Given the description of an element on the screen output the (x, y) to click on. 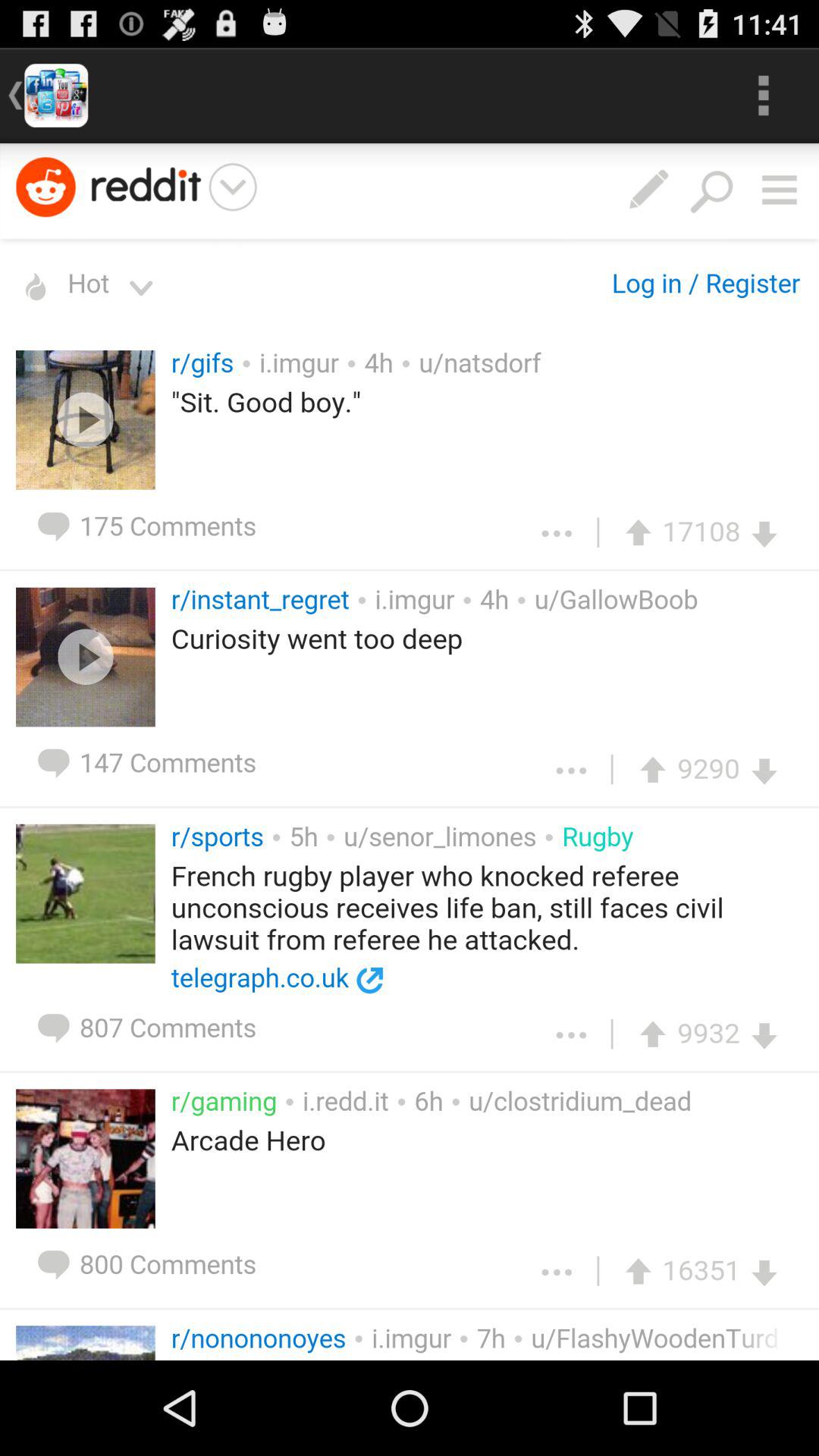
enlarge the page (409, 751)
